Given the description of an element on the screen output the (x, y) to click on. 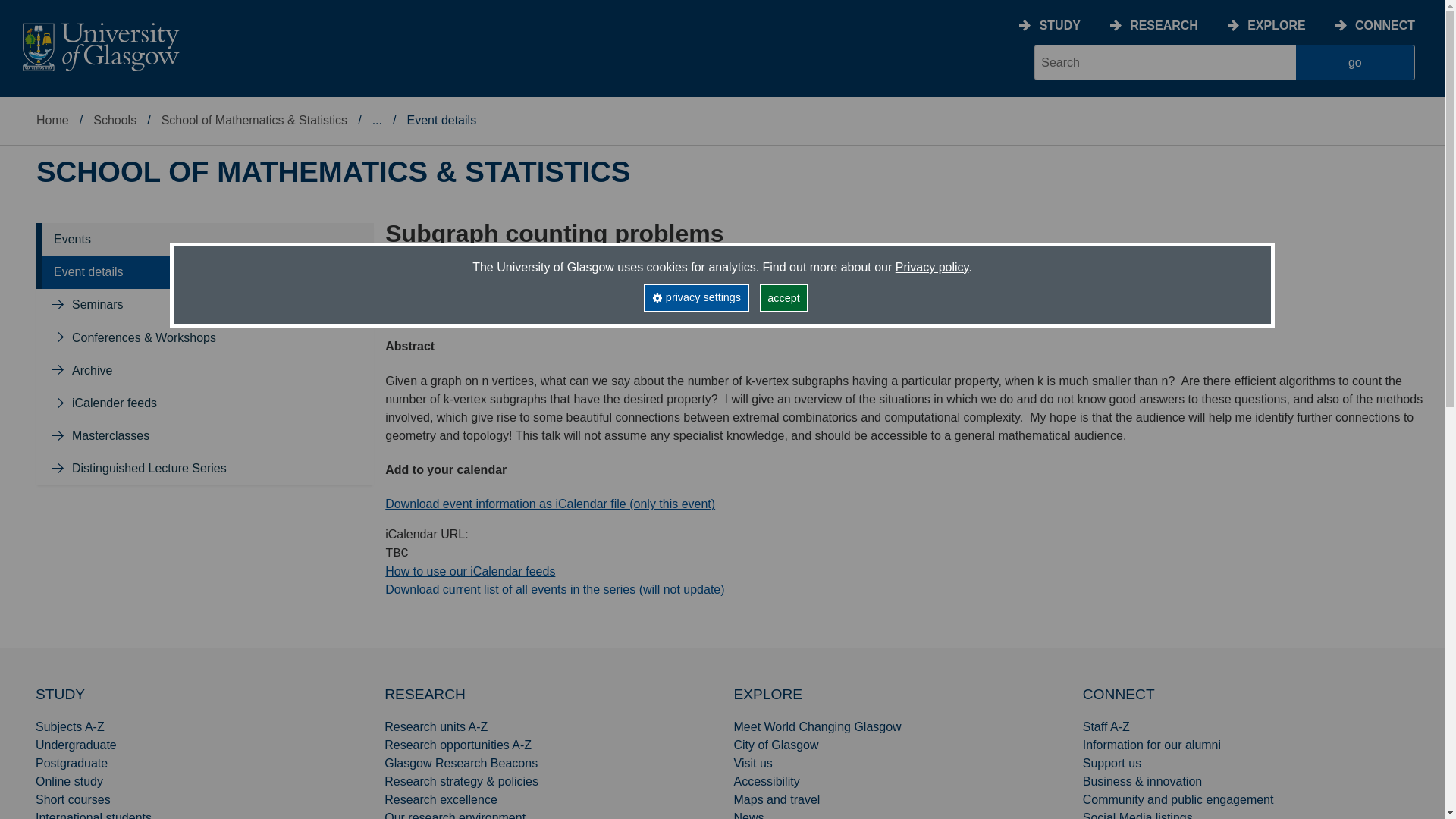
Seminars (97, 304)
search (1164, 62)
go (1355, 62)
Schools (114, 119)
Distinguished Lecture Series (149, 468)
iCalender feeds (114, 402)
CONNECT (1385, 24)
Event details (88, 271)
privacy settings (695, 298)
Events (71, 238)
